Given the description of an element on the screen output the (x, y) to click on. 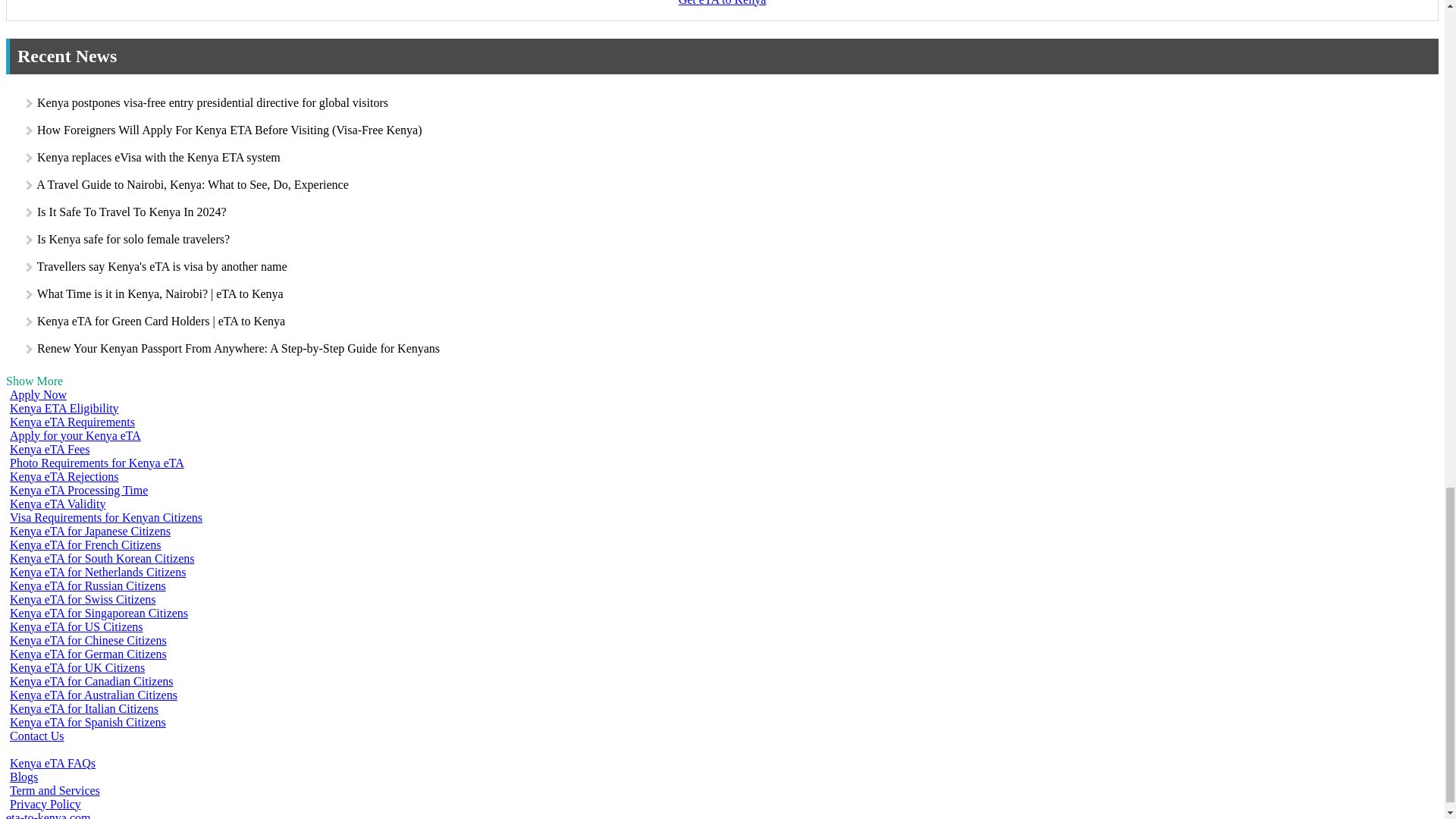
Apply for your Kenya eTA (73, 435)
Get eTA to Kenya (722, 2)
Kenya eTA Rejections (62, 476)
photo requirements for kenya eta (94, 462)
Kenya eTA Requirements (70, 421)
Kenya ETA Eligibility (62, 408)
Is Kenya safe for solo female travelers? (133, 237)
Kenya eTA Fees (46, 449)
Travellers say Kenya's eTA is visa by another name (161, 265)
